Given the description of an element on the screen output the (x, y) to click on. 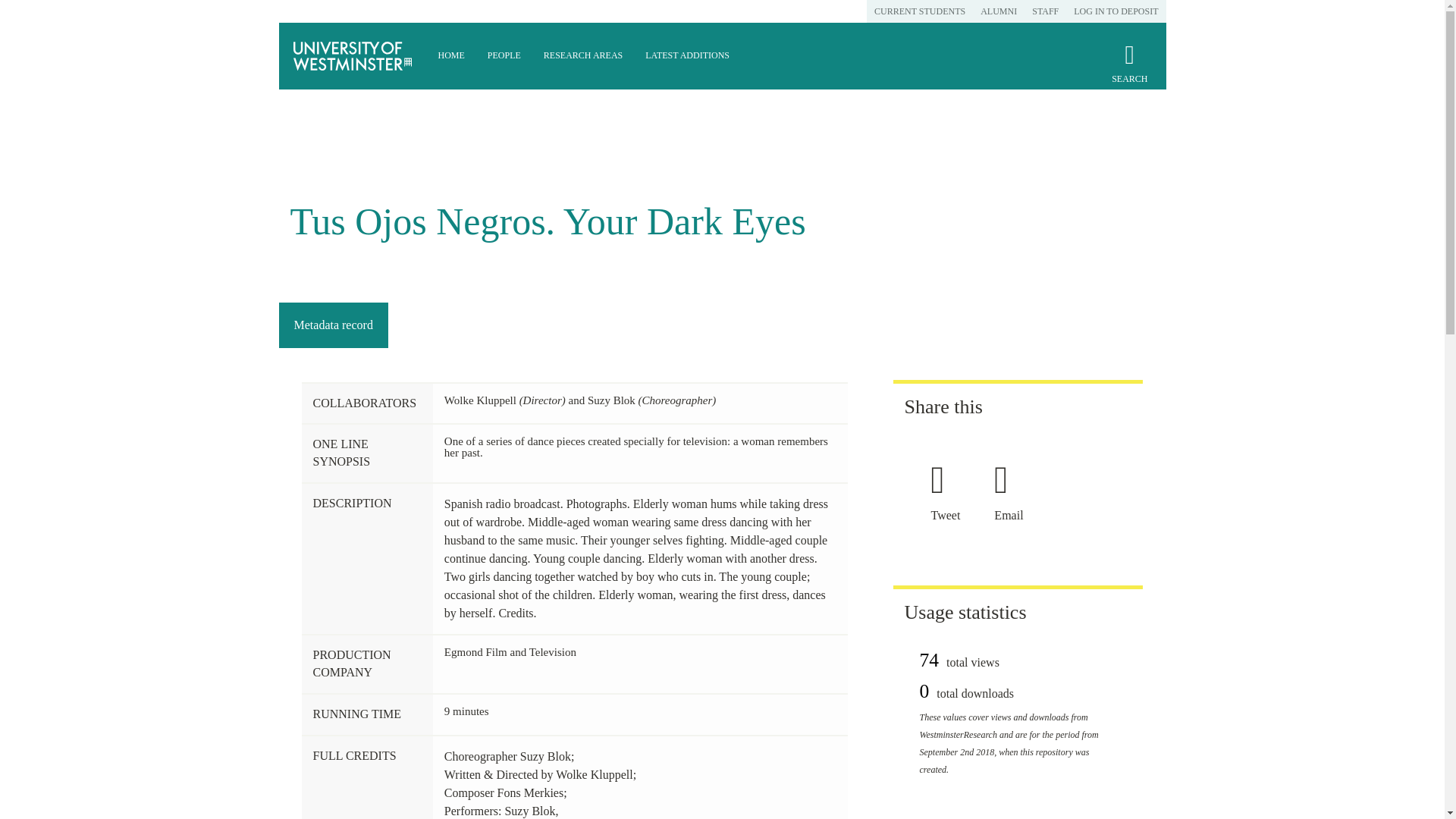
Metadata record (333, 324)
ALUMNI (998, 11)
LOG IN TO DEPOSIT (1115, 11)
RESEARCH AREAS (582, 55)
Tweet (950, 514)
SEARCH (1129, 69)
Email (1013, 514)
CURRENT STUDENTS (919, 11)
University of Westminster (352, 55)
LATEST ADDITIONS (687, 55)
